Given the description of an element on the screen output the (x, y) to click on. 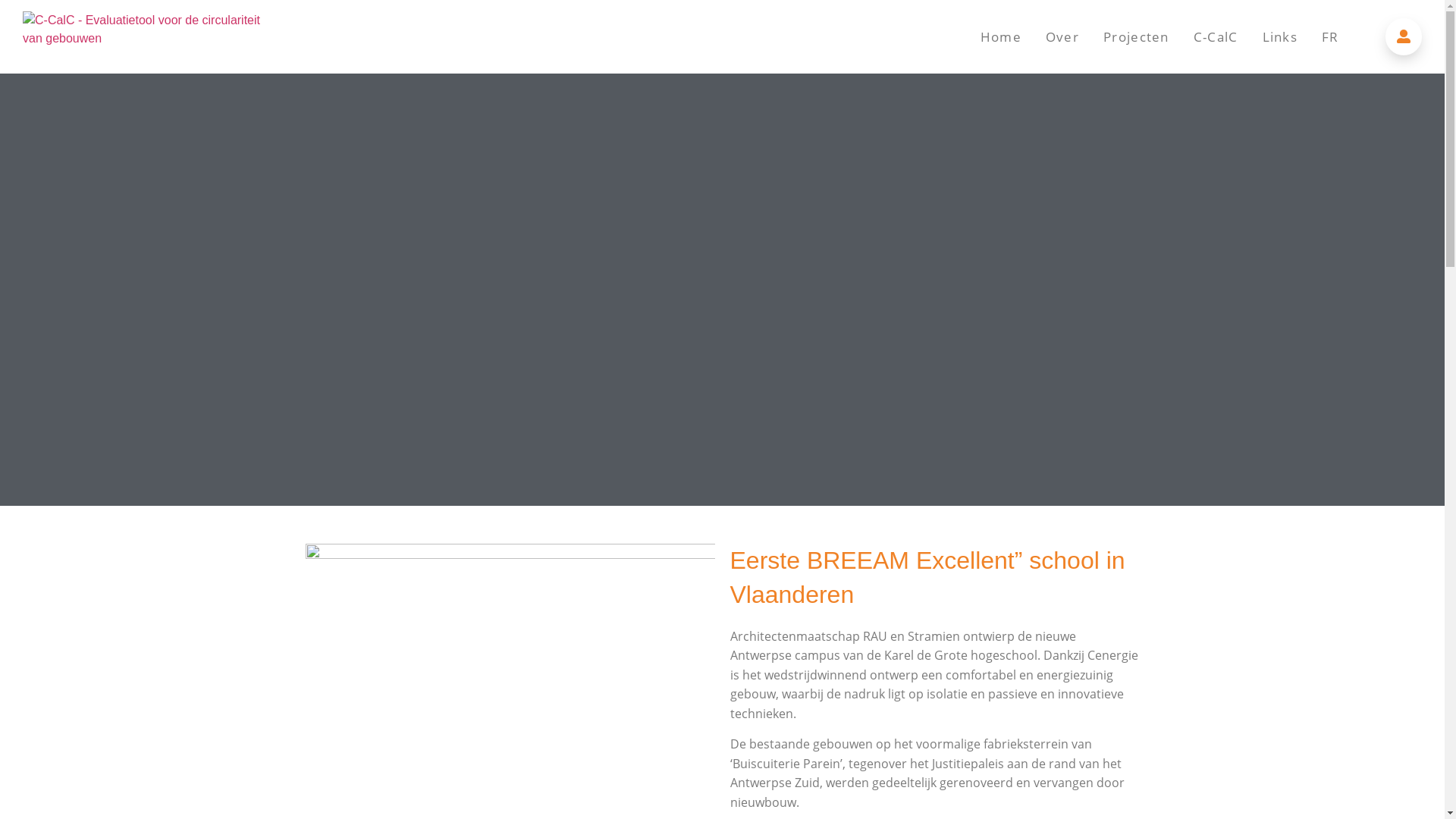
Projecten Element type: text (1136, 36)
Over Element type: text (1062, 36)
FR Element type: text (1330, 36)
Home Element type: text (1000, 36)
Links Element type: text (1280, 36)
C-CalC Element type: text (1215, 36)
